Given the description of an element on the screen output the (x, y) to click on. 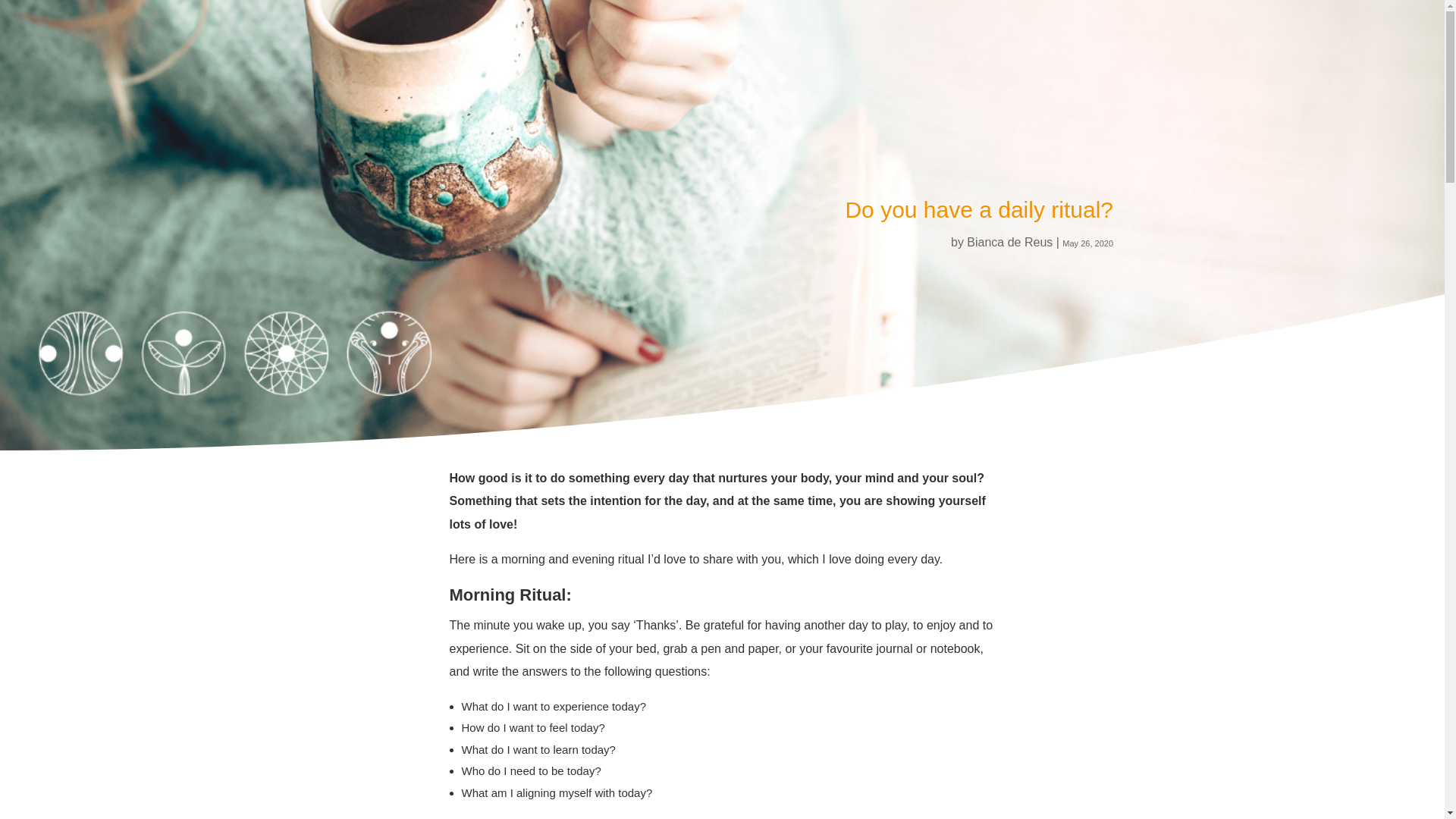
Posts by Bianca de Reus (1009, 241)
Bianca de Reus (1009, 241)
